Given the description of an element on the screen output the (x, y) to click on. 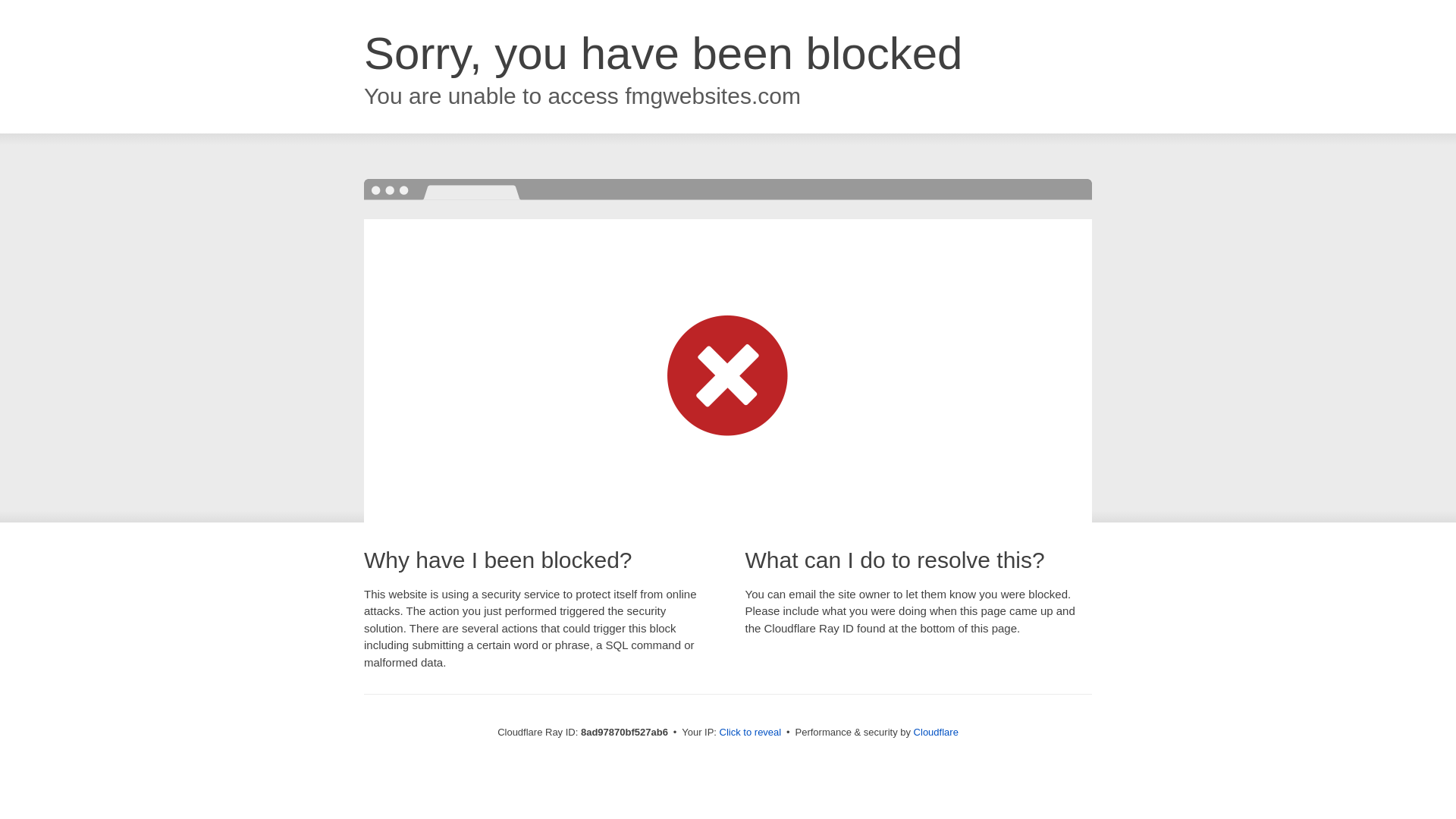
Cloudflare (936, 731)
Click to reveal (750, 732)
